Given the description of an element on the screen output the (x, y) to click on. 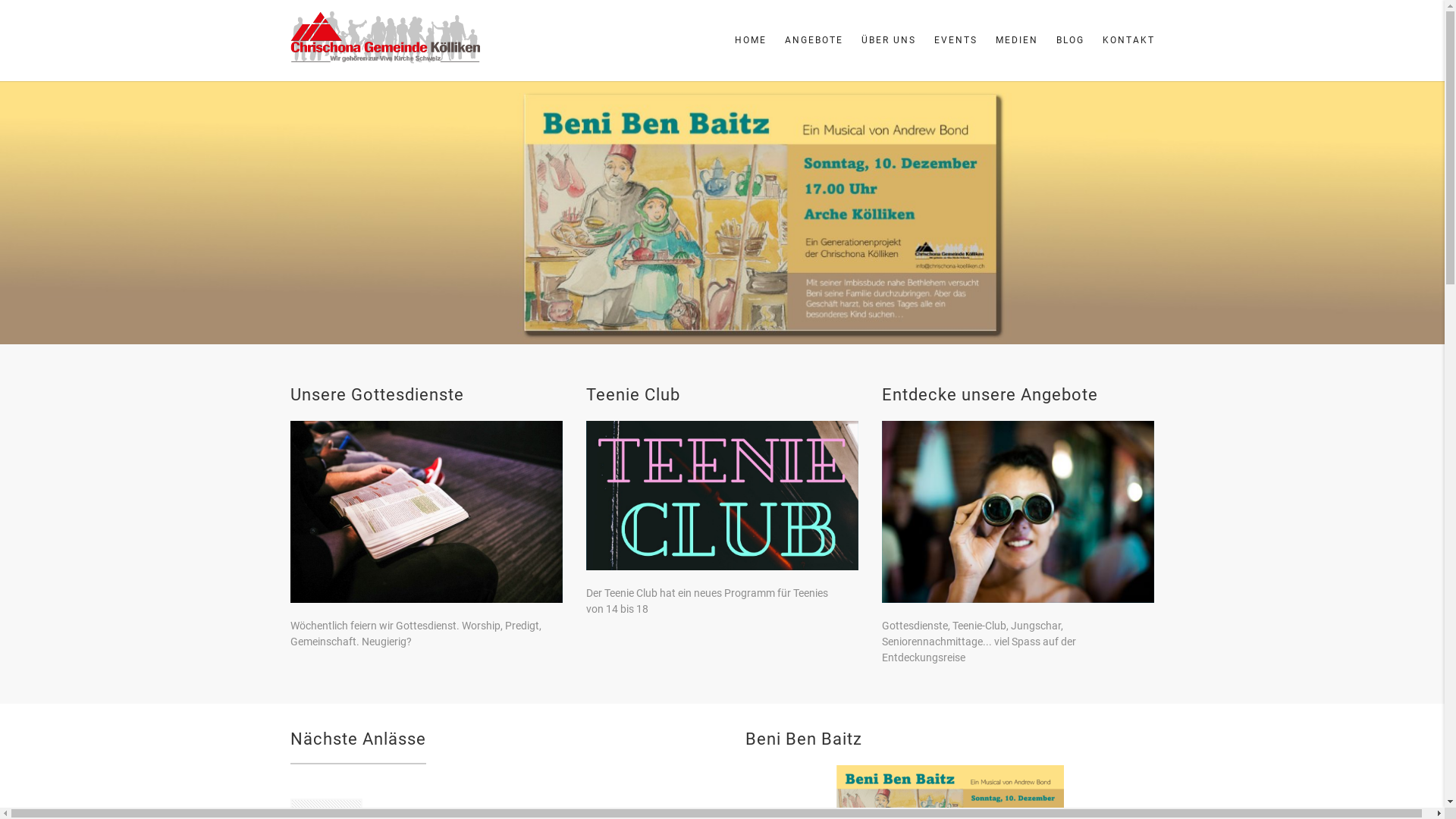
MEDIEN Element type: text (1015, 40)
BLOG Element type: text (1069, 40)
EVENTS Element type: text (955, 40)
ANGEBOTE Element type: text (813, 40)
Unsere Gottesdienste Element type: text (376, 394)
Teenie Club Element type: text (632, 394)
KONTAKT Element type: text (1123, 40)
Entdecke unsere Angebote Element type: text (989, 394)
HOME Element type: text (749, 40)
